Given the description of an element on the screen output the (x, y) to click on. 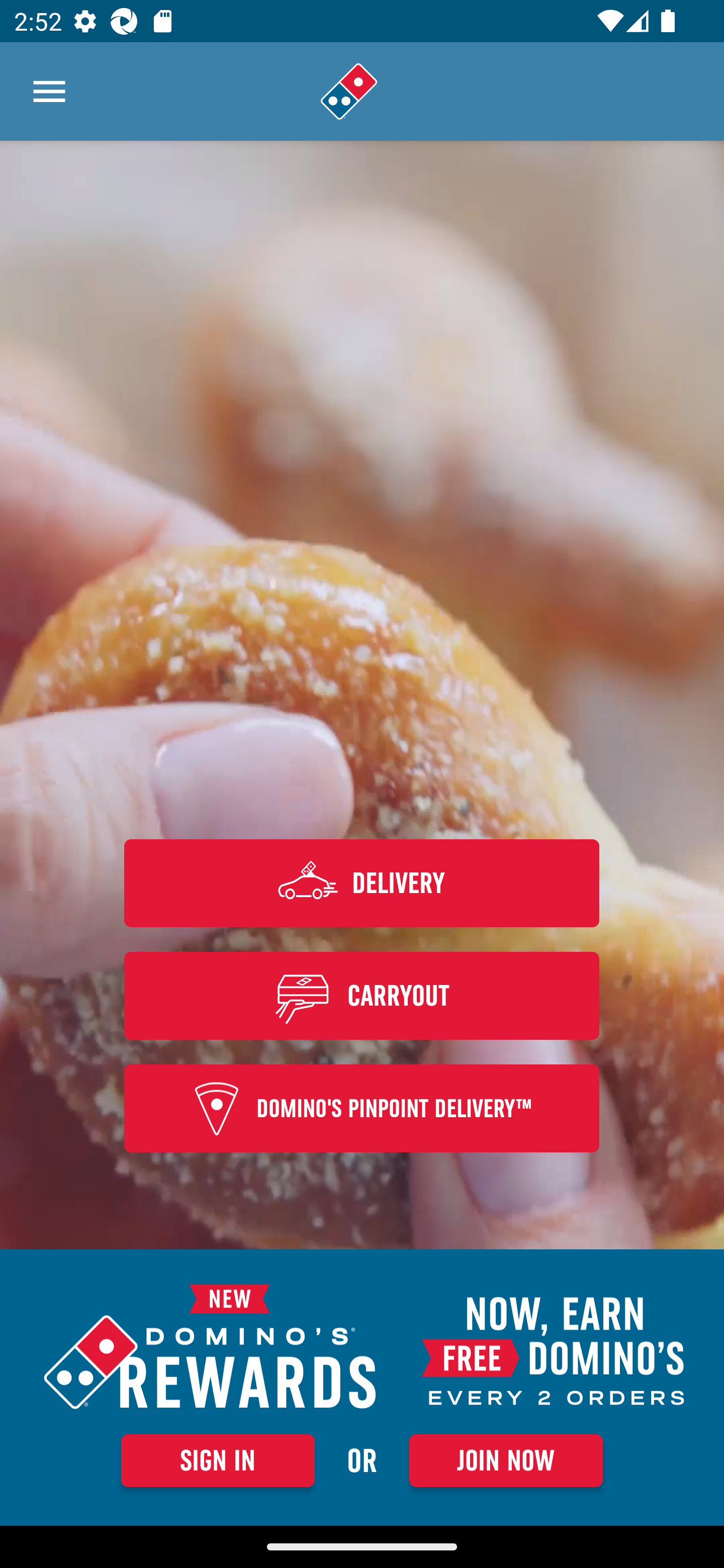
Expand Menu (49, 91)
DELIVERY (361, 882)
CARRYOUT (361, 995)
DOMINO'S PINPOINT DELIVERY™ (361, 1108)
SIGN IN (217, 1460)
JOIN NOW (506, 1460)
